Given the description of an element on the screen output the (x, y) to click on. 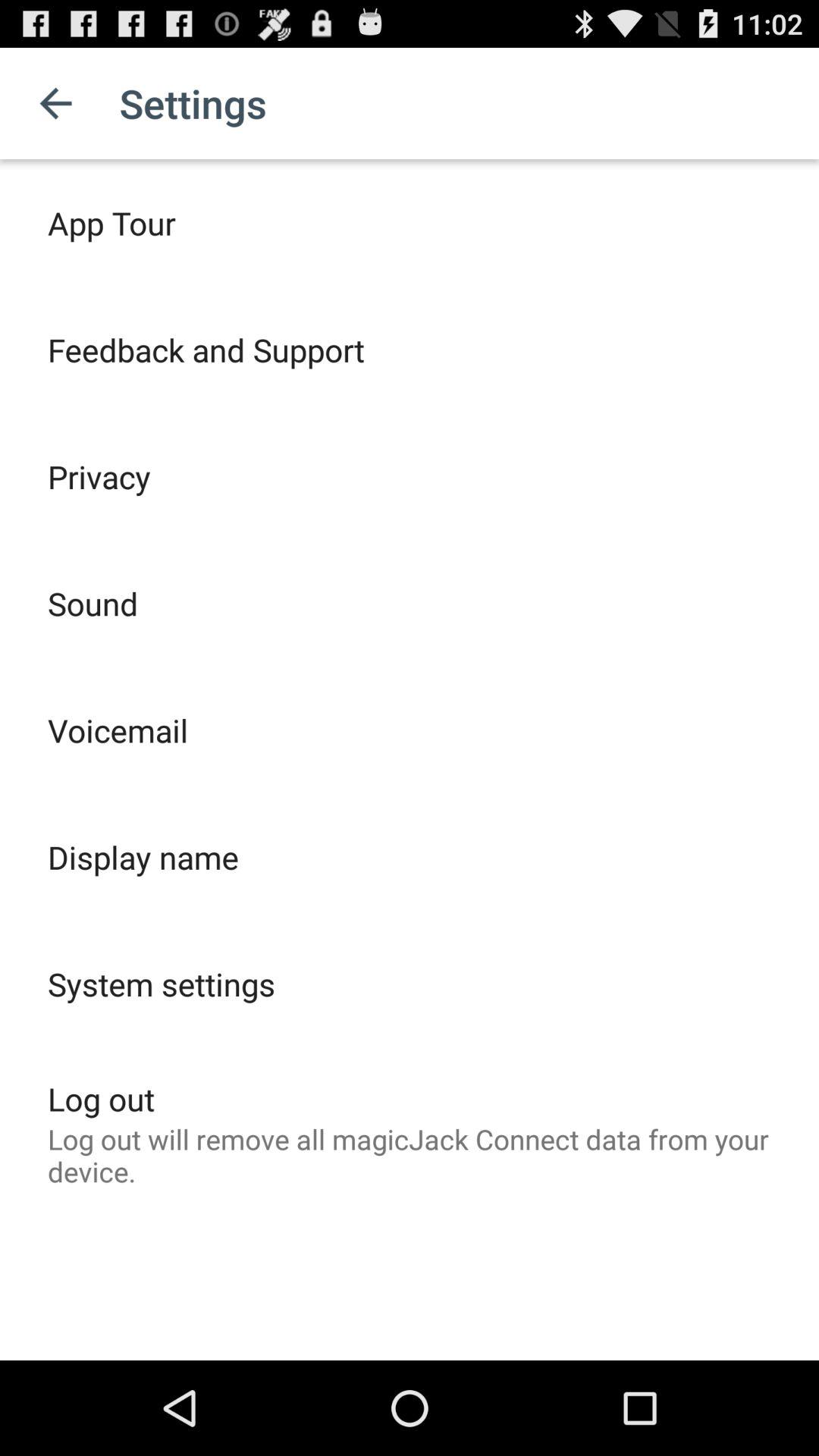
turn off item below the privacy icon (92, 603)
